Given the description of an element on the screen output the (x, y) to click on. 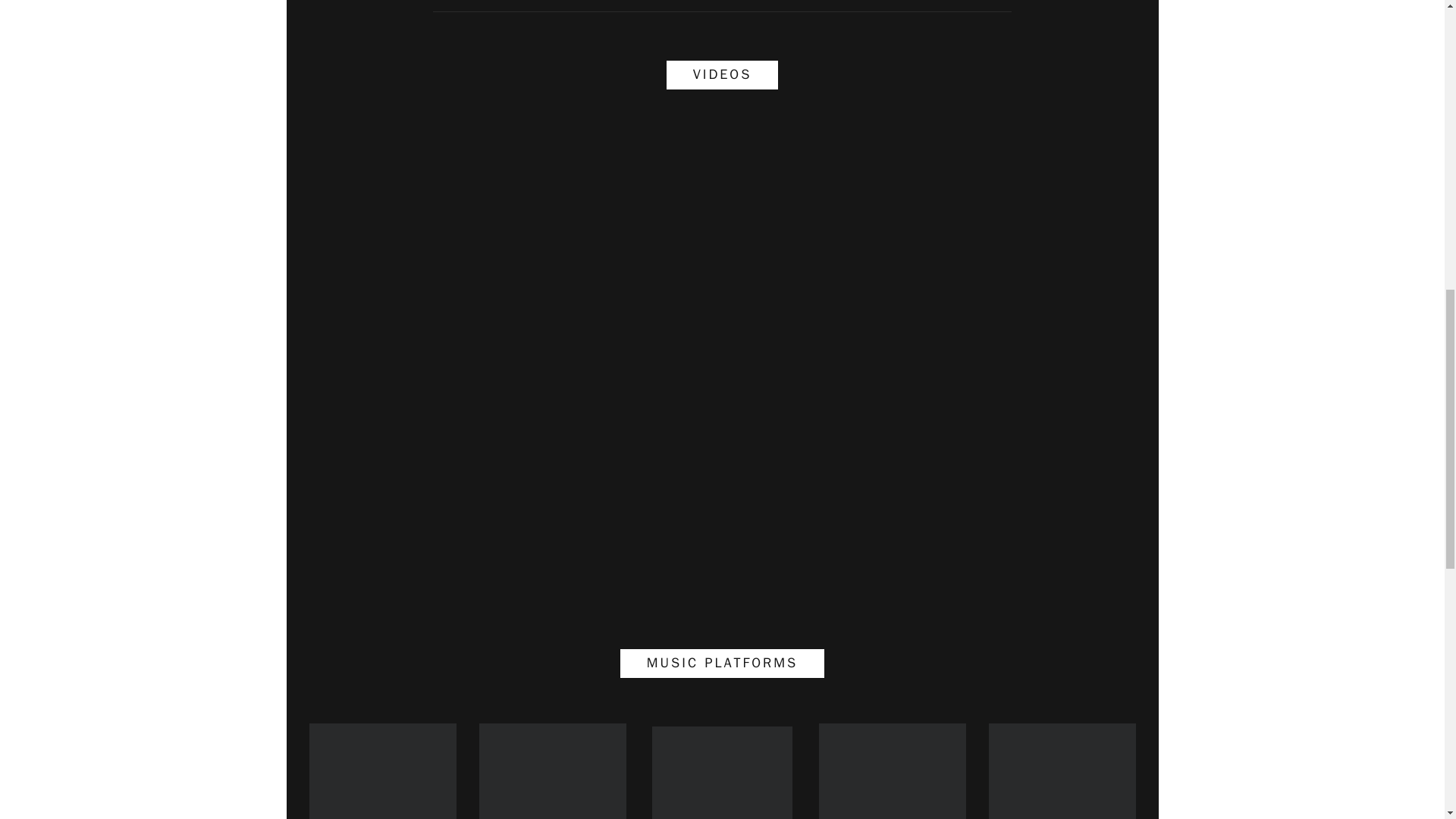
Amazon Music (722, 772)
Apple Music (552, 771)
Deezer (1061, 771)
YouTube Music (892, 771)
Spotify (382, 771)
